Given the description of an element on the screen output the (x, y) to click on. 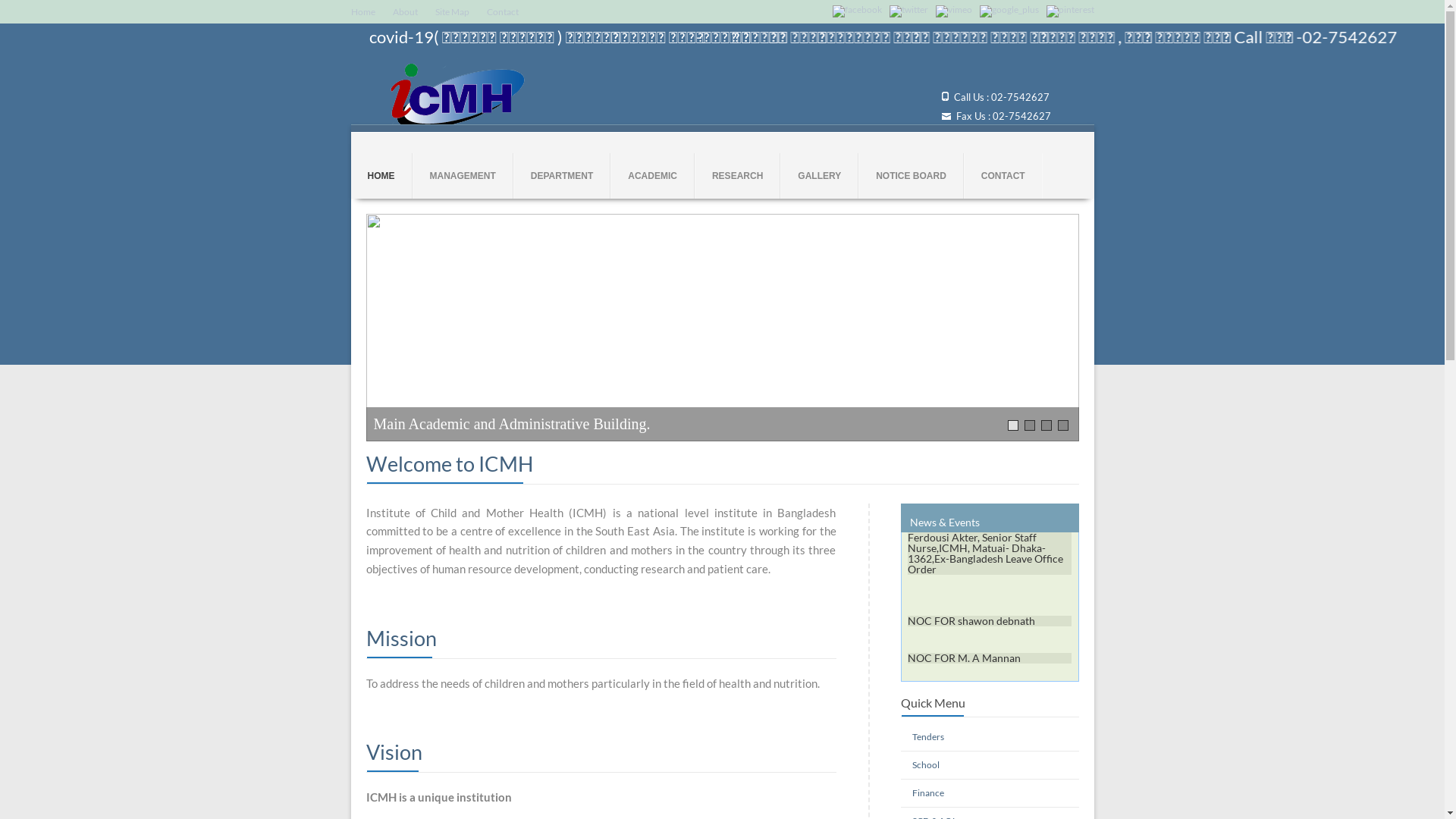
NOC FOR Md. Mostafijur Rahaman Element type: text (967, 613)
ACADEMIC Element type: text (652, 175)
Contact Element type: text (502, 11)
DEPARTMENT Element type: text (561, 175)
Site Map Element type: text (452, 11)
HOME Element type: text (380, 175)
CONTACT Element type: text (1002, 175)
School Element type: text (924, 764)
About Element type: text (404, 11)
MANAGEMENT Element type: text (461, 175)
Finance Element type: text (927, 792)
GALLERY Element type: text (819, 175)
Home Element type: text (362, 11)
News & Events Element type: text (944, 521)
Tenders Element type: text (927, 736)
RESEARCH Element type: text (737, 175)
NOTICE BOARD Element type: text (911, 175)
